Given the description of an element on the screen output the (x, y) to click on. 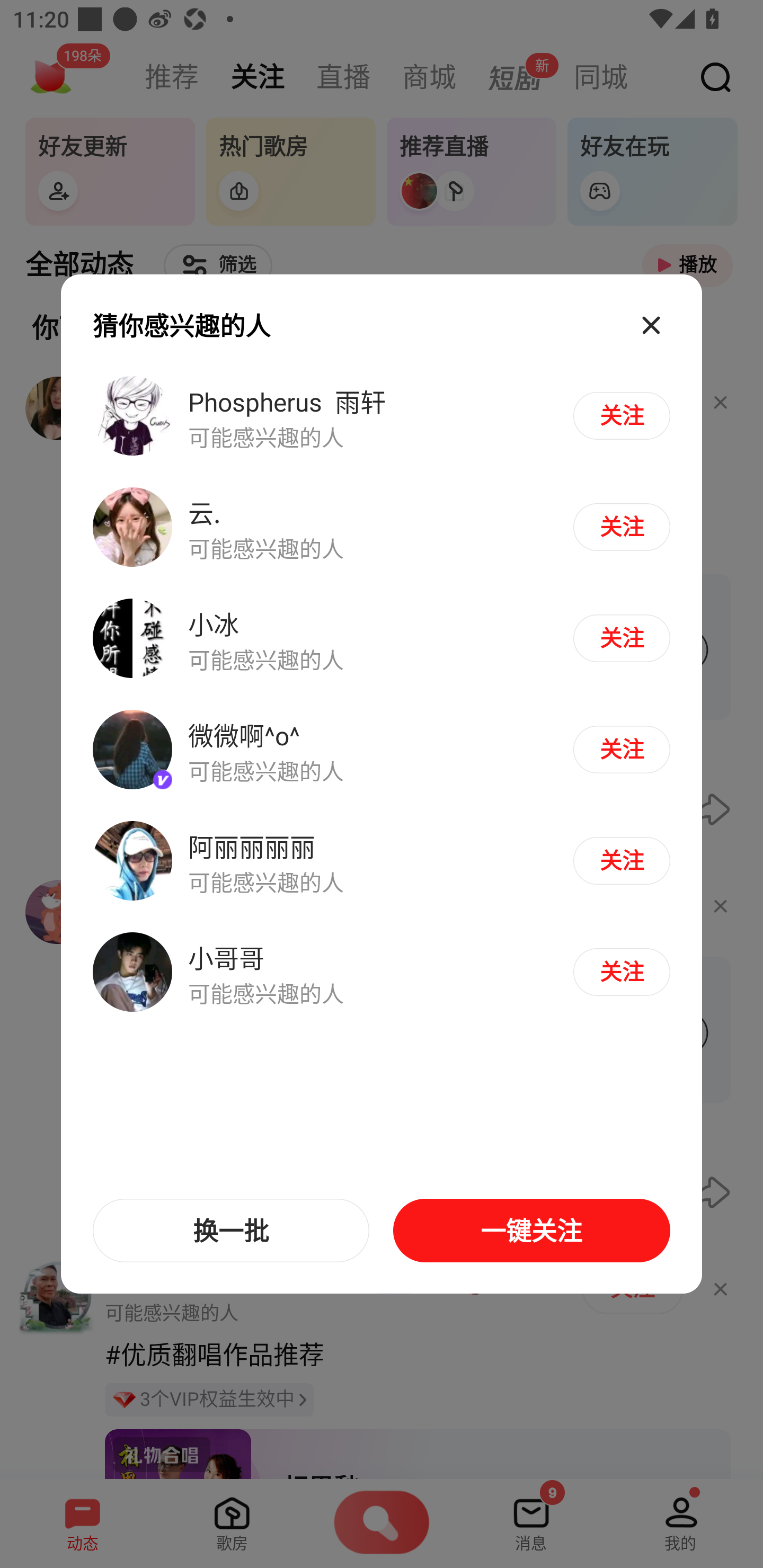
Phospherus  雨轩 可能感兴趣的人 关注 按钮 (381, 415)
关注 按钮 (621, 415)
云. 可能感兴趣的人 关注 按钮 (381, 527)
关注 按钮 (621, 526)
小冰 可能感兴趣的人 关注 按钮 (381, 638)
关注 按钮 (621, 637)
微微啊^o^ 可能感兴趣的人 关注 按钮 (381, 749)
关注 按钮 (621, 749)
阿丽丽丽丽 可能感兴趣的人 关注 按钮 (381, 860)
关注 按钮 (621, 860)
小哥哥 可能感兴趣的人 关注 按钮 (381, 971)
关注 按钮 (621, 971)
换一批 按钮 (231, 1230)
一键关注 按钮 (530, 1230)
